Given the description of an element on the screen output the (x, y) to click on. 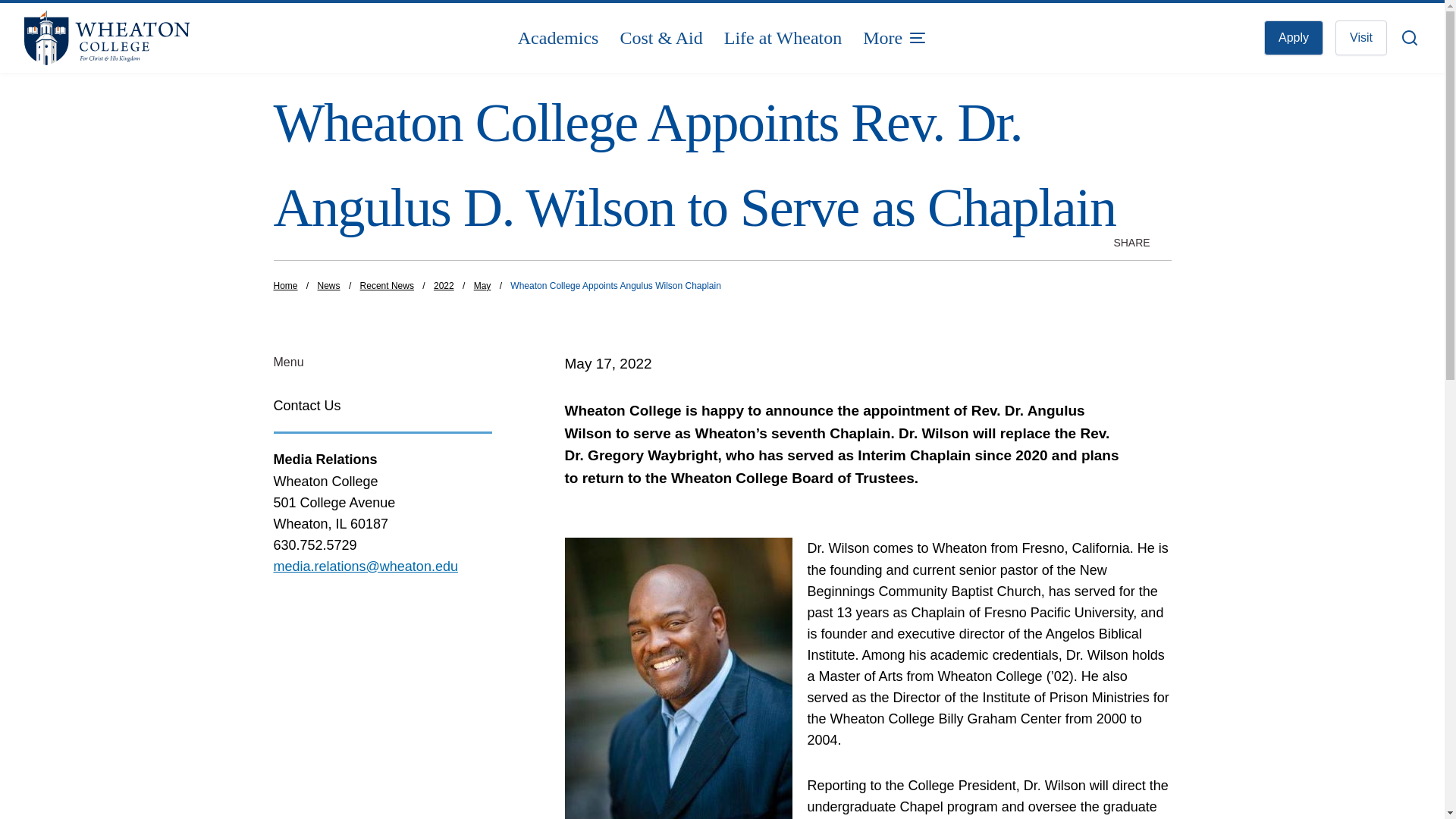
Academics (557, 37)
Apply (1293, 37)
Visit (1361, 37)
More (894, 37)
Life at Wheaton (782, 37)
Wheaton College homepage (161, 37)
